Given the description of an element on the screen output the (x, y) to click on. 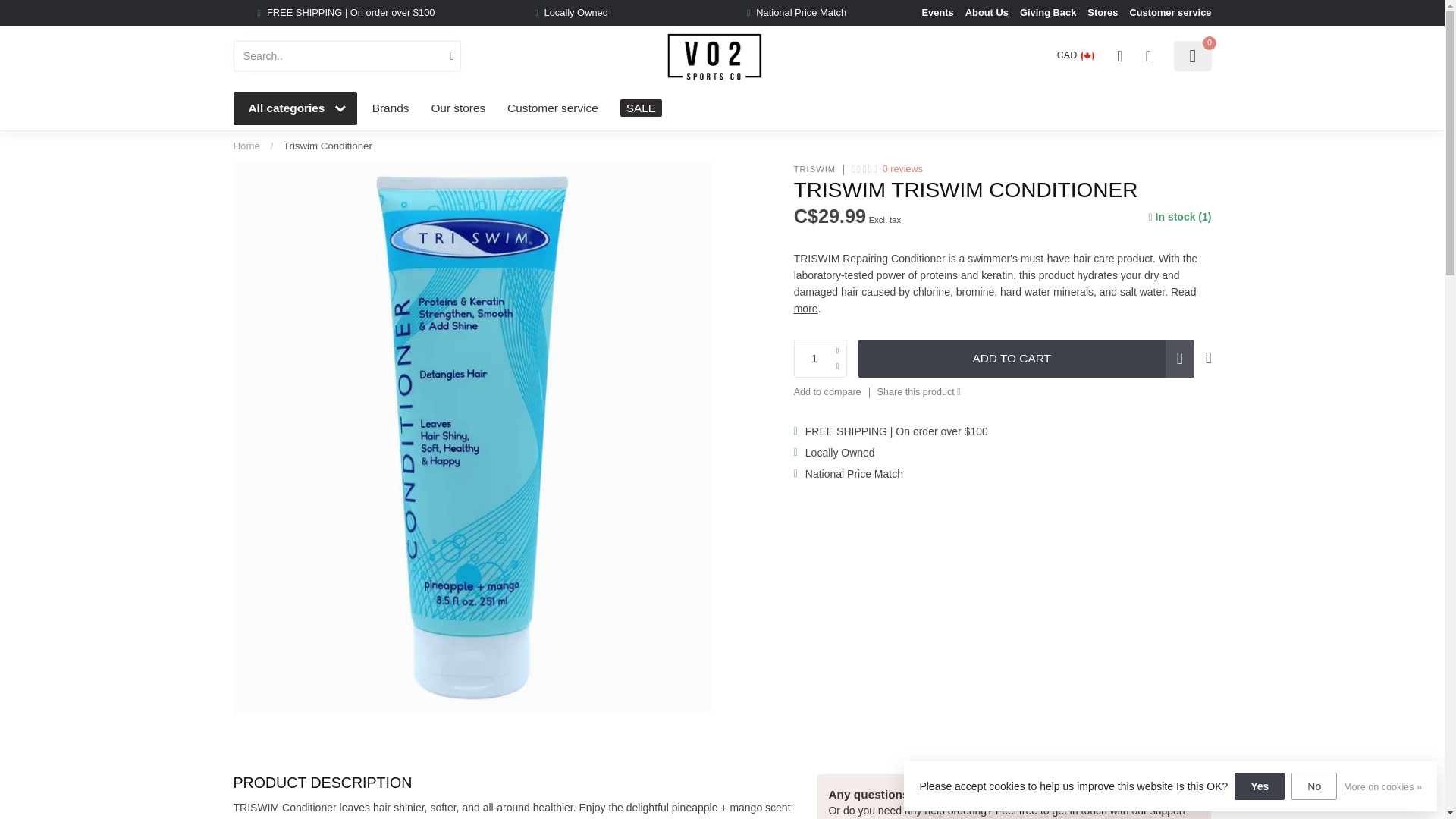
Home (246, 145)
Giving Back (1047, 12)
Stores (1102, 12)
Customer service (1170, 12)
0 (1192, 55)
About Us (987, 12)
Events (937, 12)
Brands Our stores Customer service SALE (785, 107)
1 (1060, 244)
1 (820, 358)
